Given the description of an element on the screen output the (x, y) to click on. 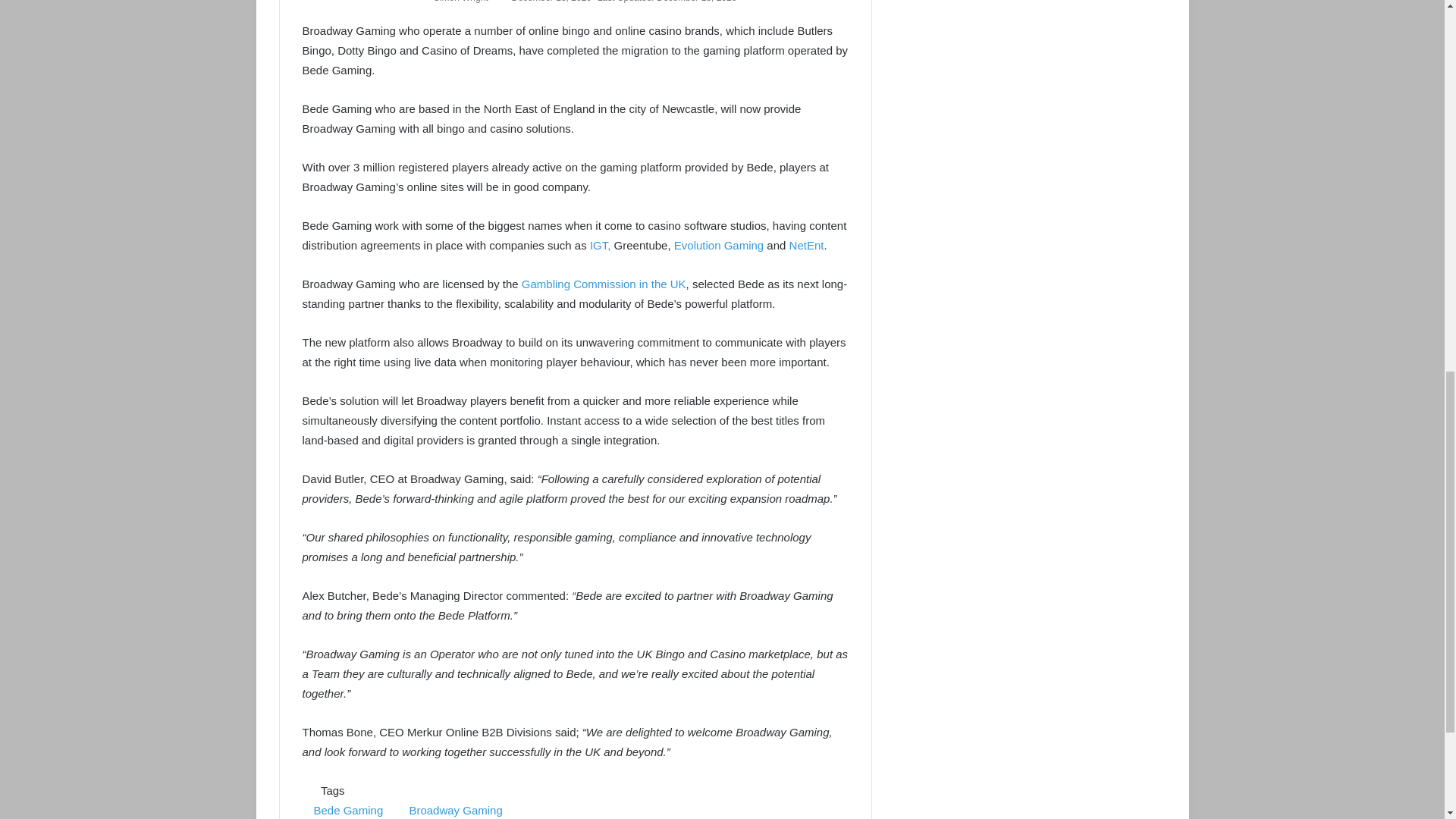
Evolution Gaming (718, 245)
Bede Gaming (347, 809)
IGT, (600, 245)
Simon Wright (460, 1)
Gambling Commission in the UK (603, 283)
NetEnt (806, 245)
Simon Wright (460, 1)
Broadway Gaming (455, 809)
